Given the description of an element on the screen output the (x, y) to click on. 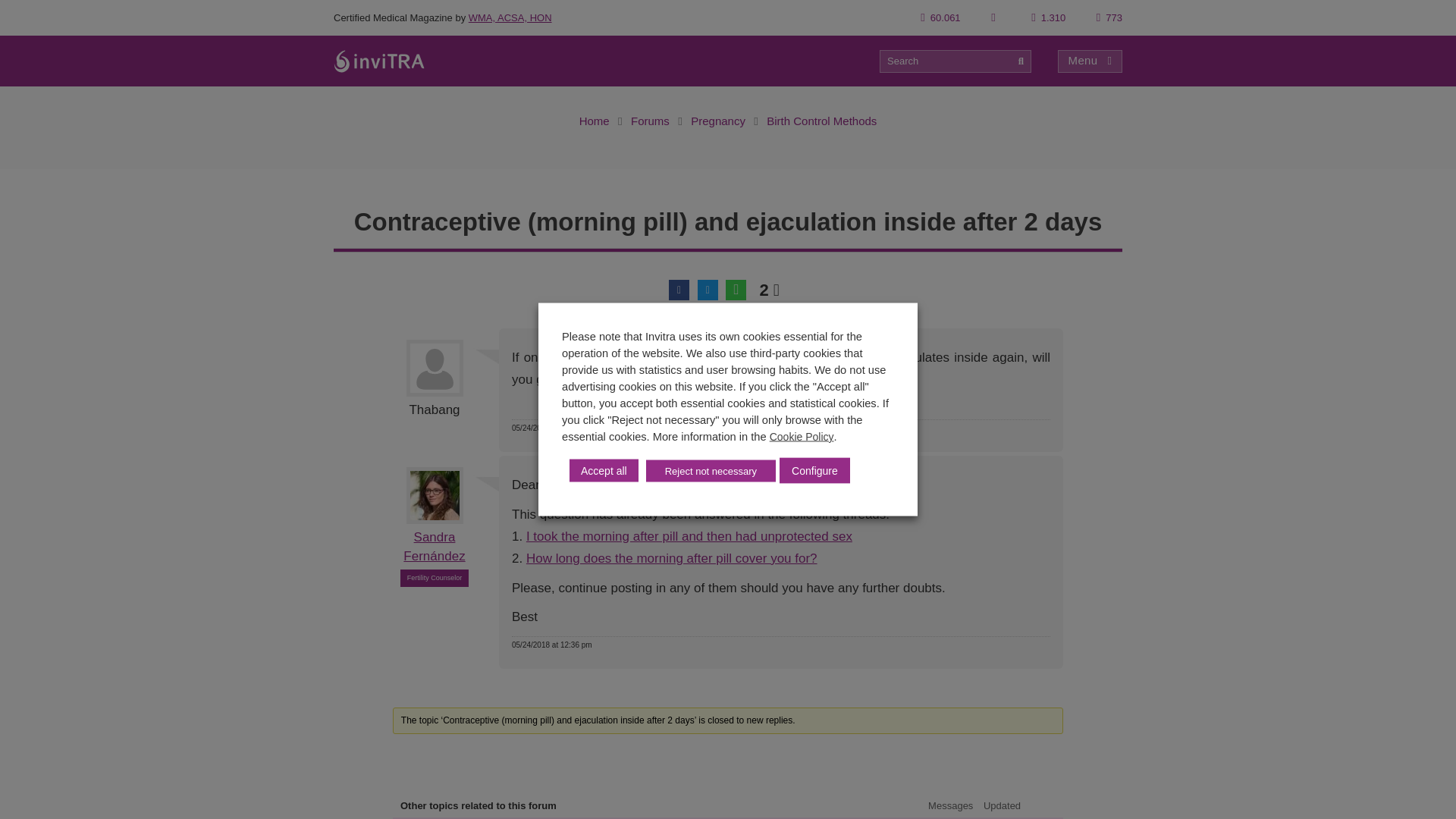
773 Followers on Instagram (1109, 17)
Menu (1090, 60)
60.061 Fans on Facebook (939, 17)
1.310 (1047, 17)
Share in Twitter (707, 289)
Share in facebook (678, 289)
inviTRA (379, 60)
WMA, ACSA, HON (509, 17)
Share in WhatsApp (735, 289)
1.310 Subscribed on Youtube (1047, 17)
Menu (1090, 60)
773 (1109, 17)
60.061 (939, 17)
